Given the description of an element on the screen output the (x, y) to click on. 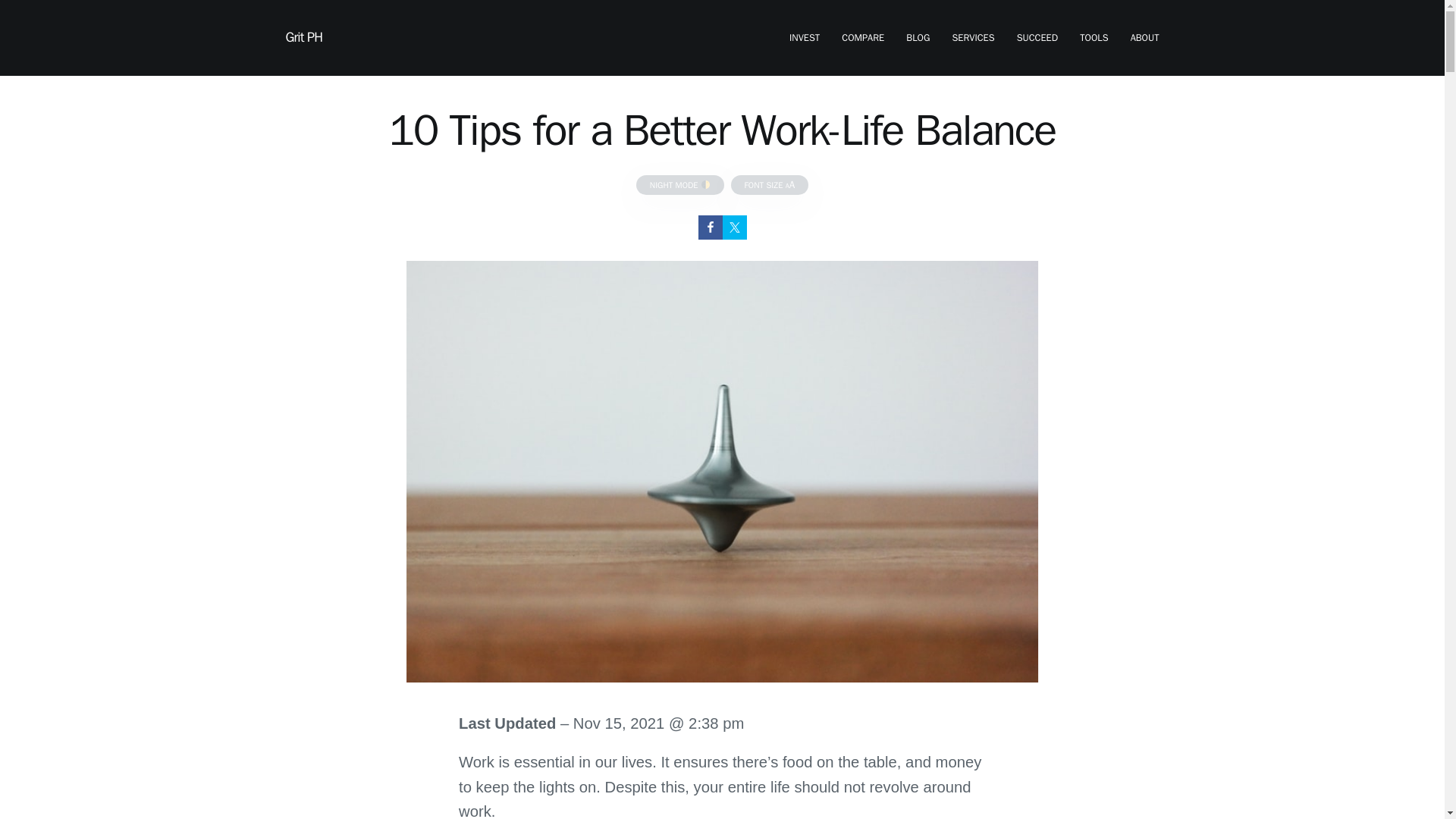
Share on Facebook (709, 227)
BLOG (917, 37)
INVEST (804, 37)
COMPARE (862, 37)
SERVICES (973, 37)
Grit PH (303, 36)
Share on Twitter (733, 227)
